Given the description of an element on the screen output the (x, y) to click on. 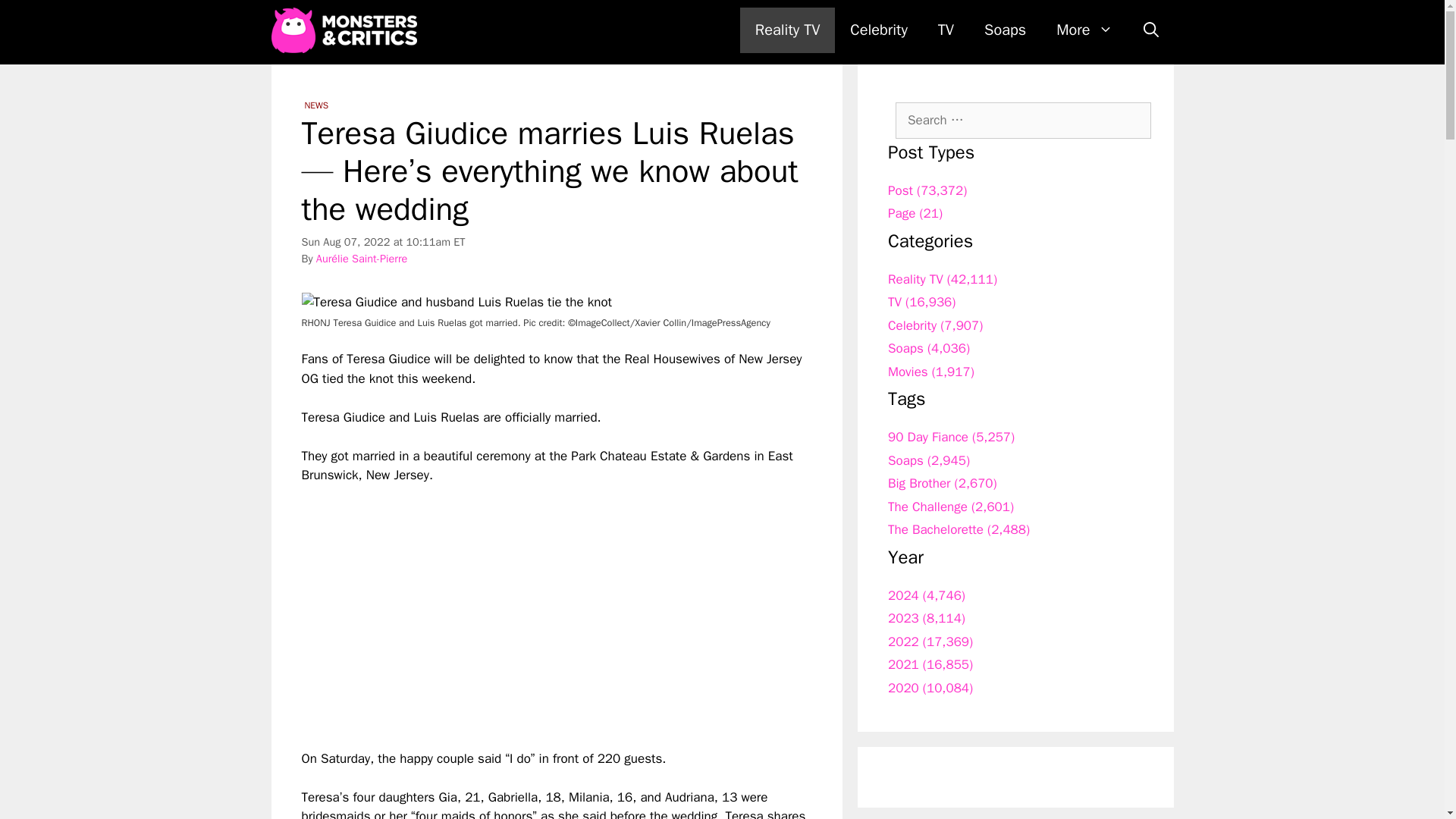
Soaps (1005, 30)
Monsters and Critics (347, 30)
More (1083, 30)
Celebrity (877, 30)
Monsters and Critics (343, 30)
Search for: (1023, 120)
TV (946, 30)
YouTube video player (513, 604)
Reality TV (787, 30)
